Given the description of an element on the screen output the (x, y) to click on. 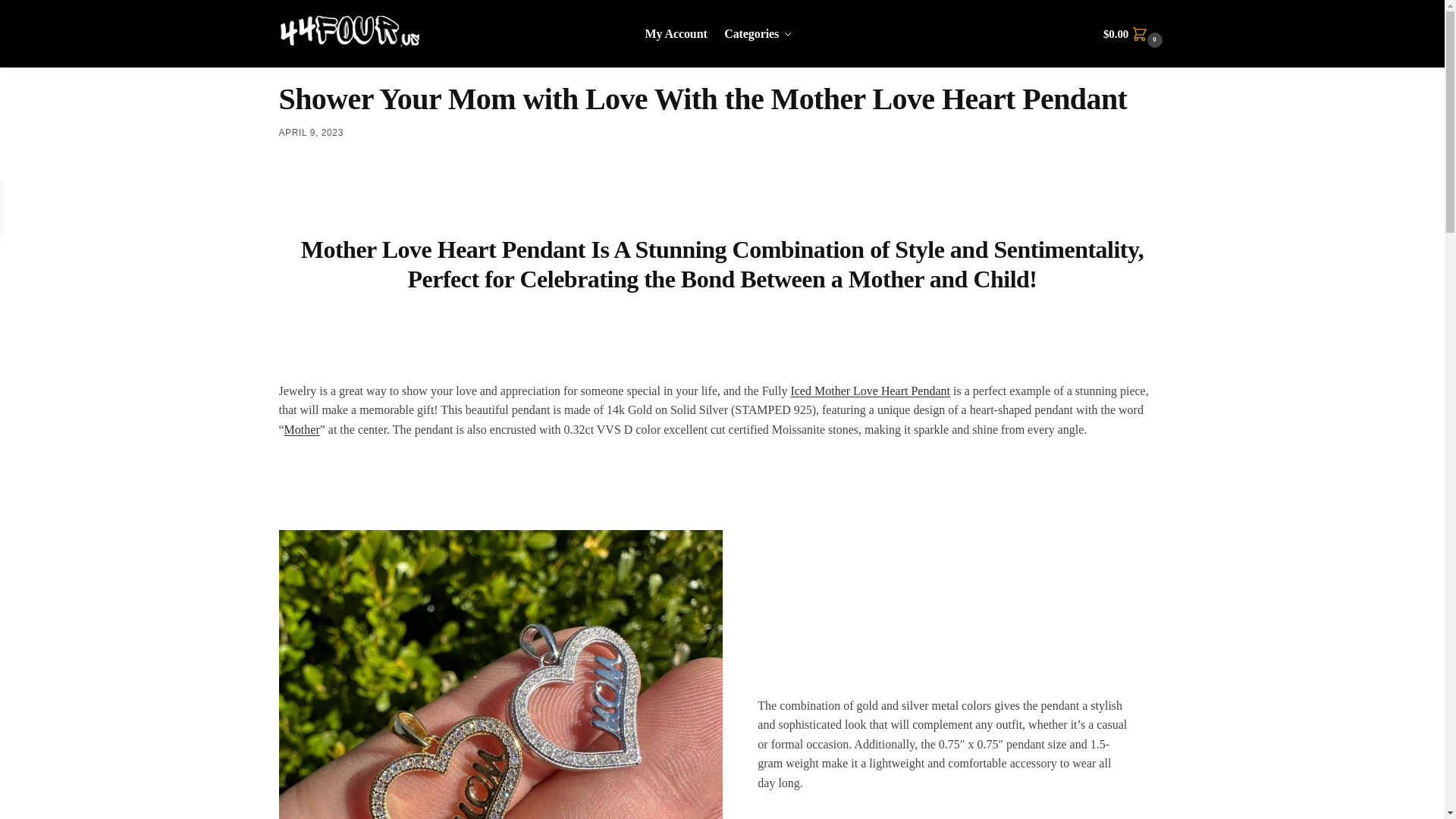
Iced Mother Love Heart Pendant (870, 390)
Categories (757, 33)
My Account (679, 33)
View your shopping cart (1134, 33)
Mother (301, 429)
